Given the description of an element on the screen output the (x, y) to click on. 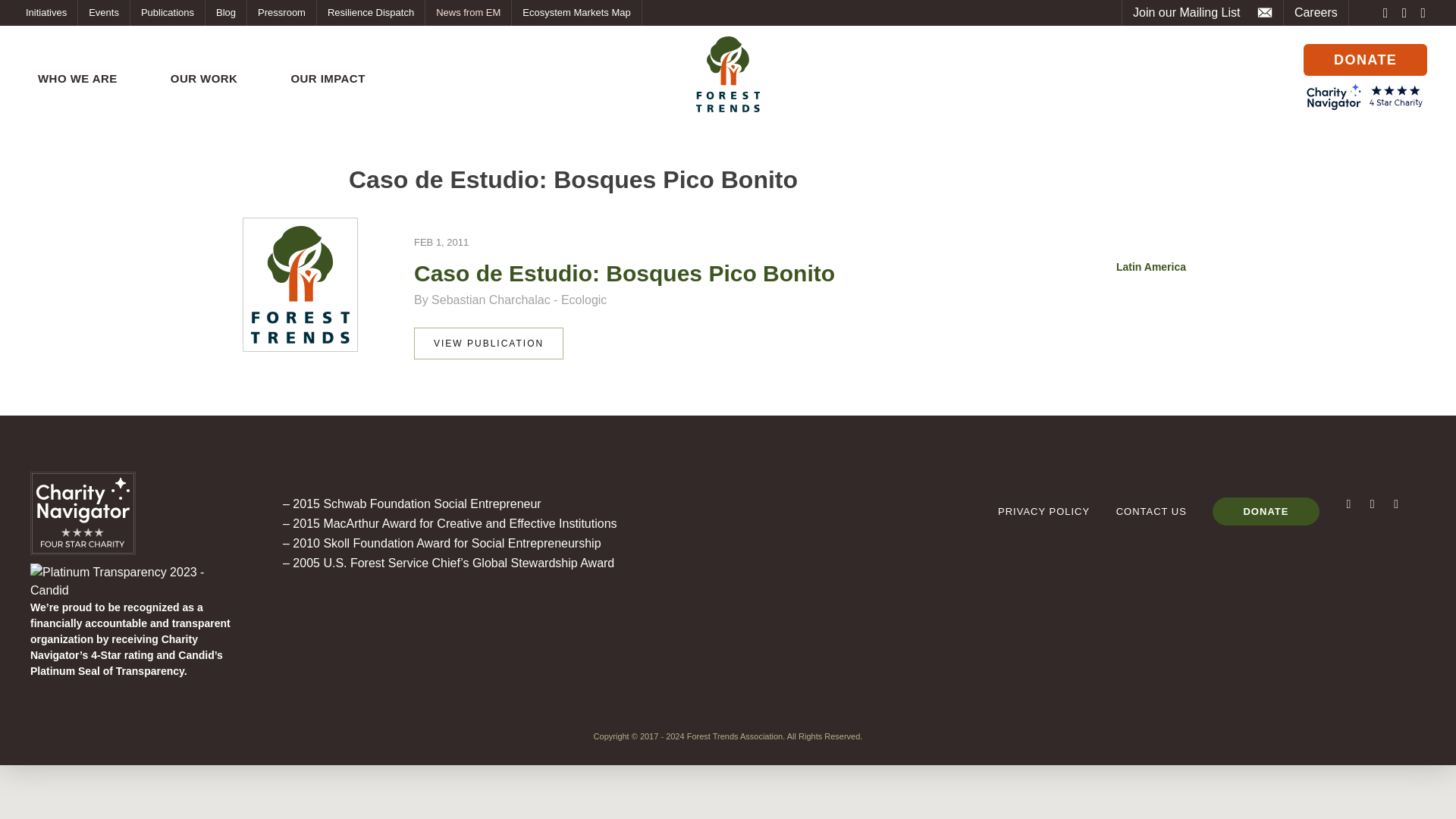
OUR IMPACT (327, 78)
Publications (168, 12)
Initiatives (45, 12)
Resilience Dispatch (371, 12)
Ecosystem Markets Map (576, 12)
WHO WE ARE (77, 78)
Blog (225, 12)
Careers (1315, 12)
Search for: (1255, 74)
Pressroom (281, 12)
News from EM (468, 12)
Events (103, 12)
OUR WORK (204, 78)
